Given the description of an element on the screen output the (x, y) to click on. 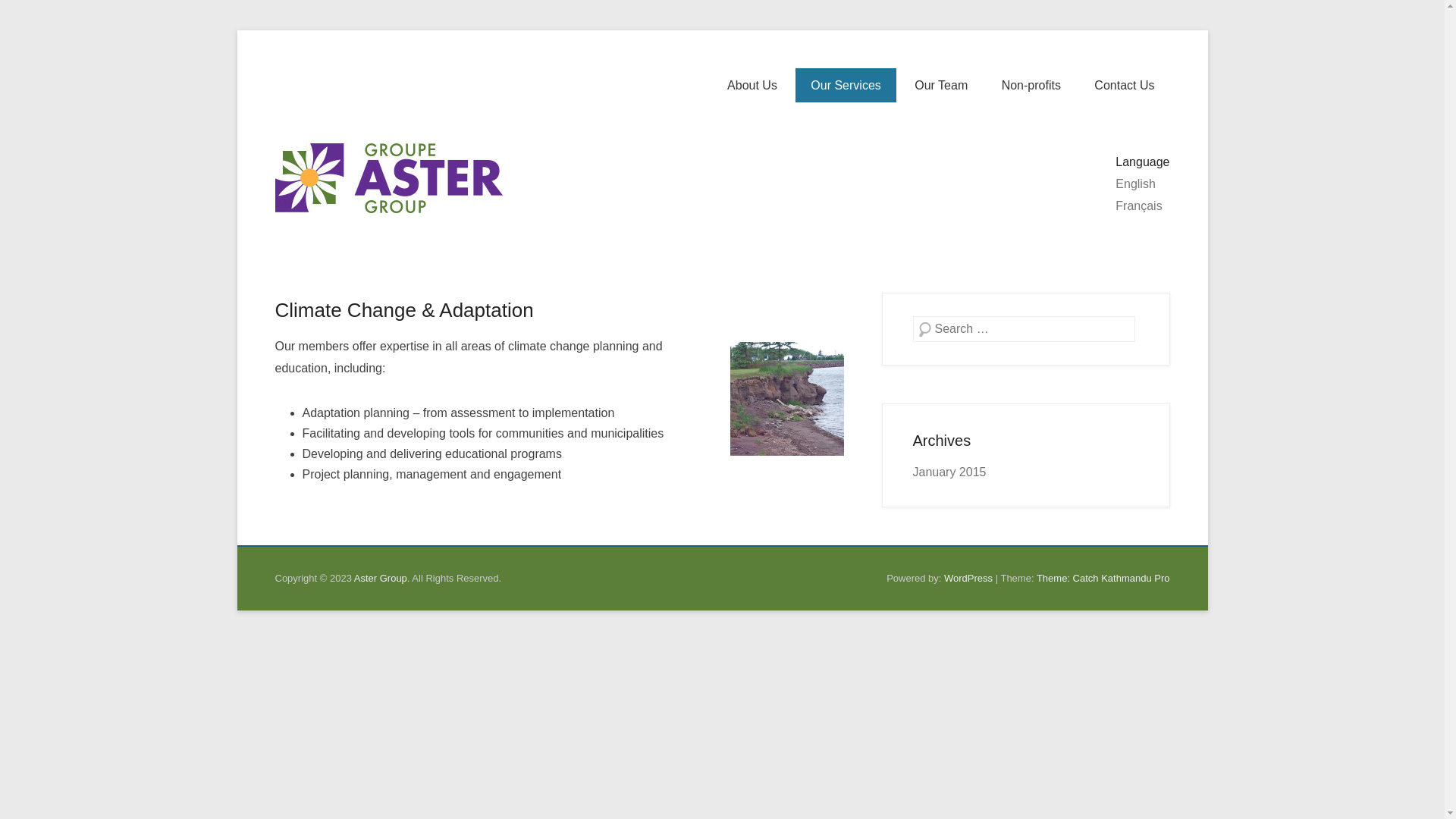
Climate Change & Adaptation Element type: text (403, 309)
Our Team Element type: text (940, 85)
Aster Group Element type: text (380, 577)
Theme: Catch Kathmandu Pro Element type: text (1103, 577)
January 2015 Element type: text (949, 471)
Our Services Element type: text (845, 85)
Aster2013 Element type: text (509, 338)
Aster Group Element type: hover (388, 178)
Non-profits Element type: text (1031, 85)
English Element type: text (1134, 183)
Search Element type: text (32, 15)
WordPress Element type: text (968, 577)
About Us Element type: text (752, 85)
Aster Group Element type: text (593, 123)
Contact Us Element type: text (1124, 85)
